Given the description of an element on the screen output the (x, y) to click on. 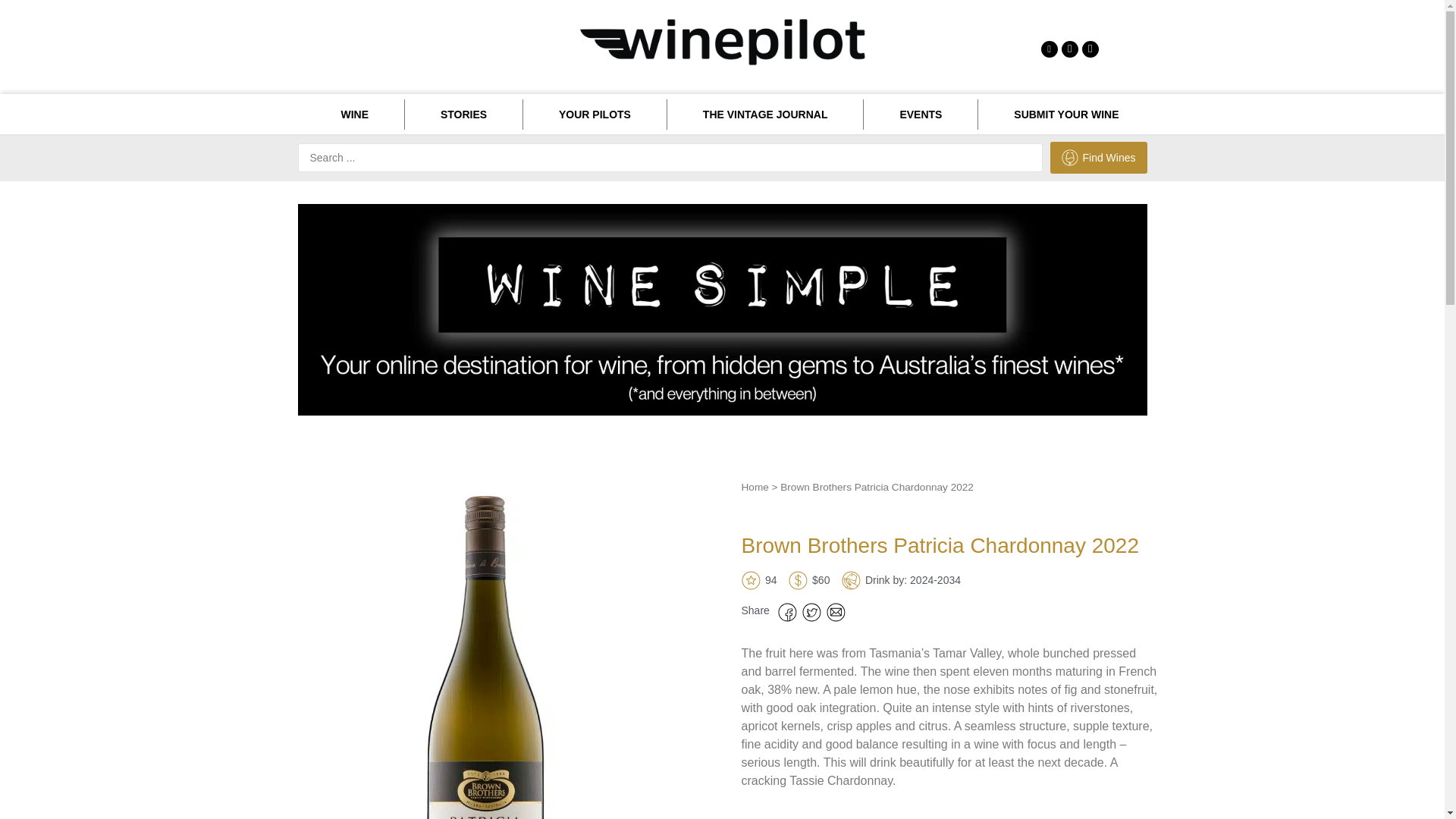
STORIES (463, 114)
EVENTS (919, 114)
SUBMIT YOUR WINE (1066, 114)
THE VINTAGE JOURNAL (764, 114)
Find Wines (1098, 157)
Home (754, 487)
YOUR PILOTS (594, 114)
WINE (353, 114)
